Given the description of an element on the screen output the (x, y) to click on. 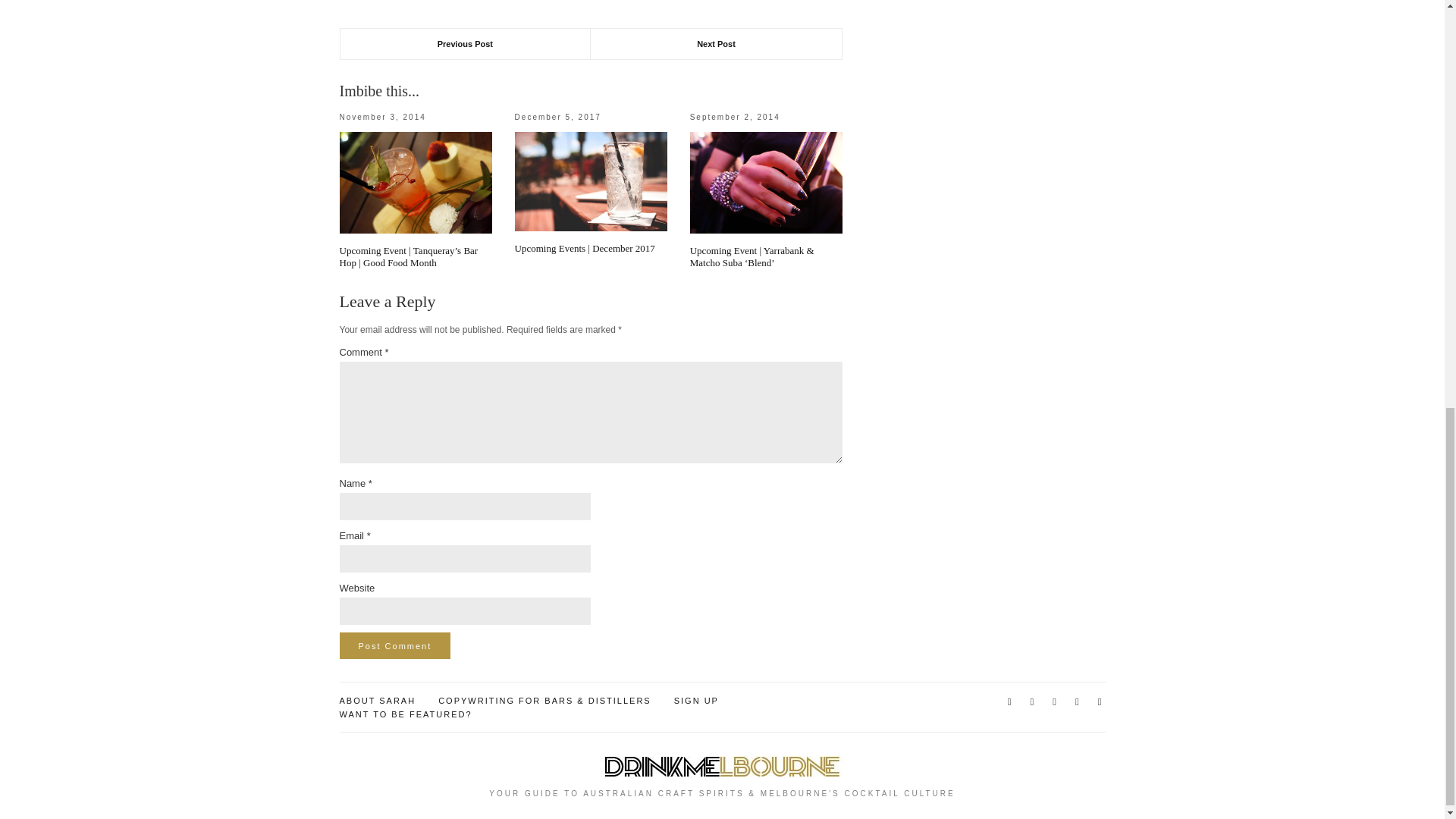
SIGN UP (696, 701)
Post Comment (395, 645)
ABOUT SARAH (377, 701)
WANT TO BE FEATURED? (405, 714)
Previous Post (465, 43)
Next Post (716, 43)
Post Comment (395, 645)
